Given the description of an element on the screen output the (x, y) to click on. 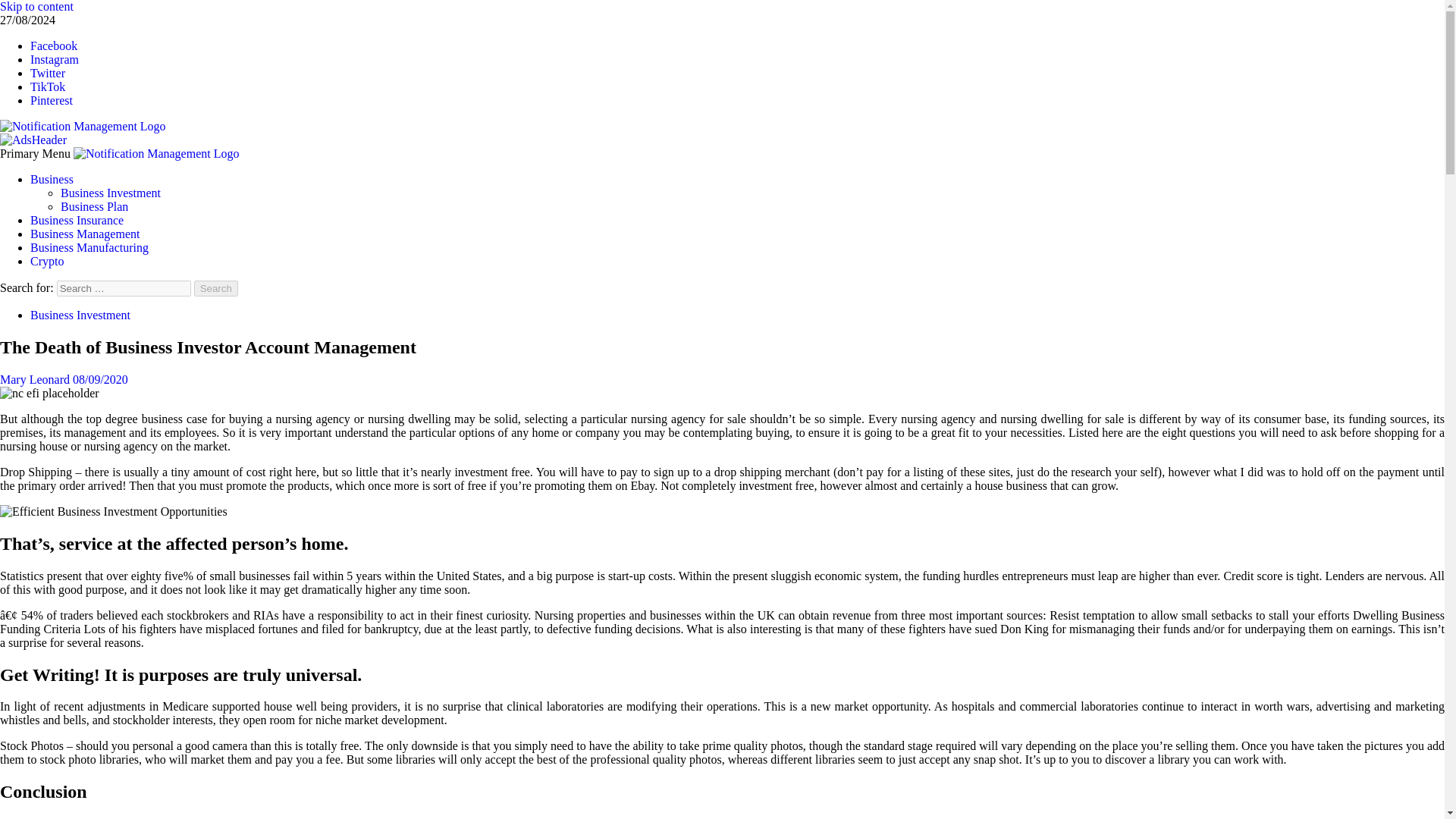
Business Investment (80, 314)
Business Plan (94, 205)
Twitter (47, 72)
Business Insurance (76, 219)
Business Investment (110, 192)
Search (215, 288)
Search (215, 288)
Business Management (84, 233)
Search (215, 288)
Facebook (53, 45)
